Given the description of an element on the screen output the (x, y) to click on. 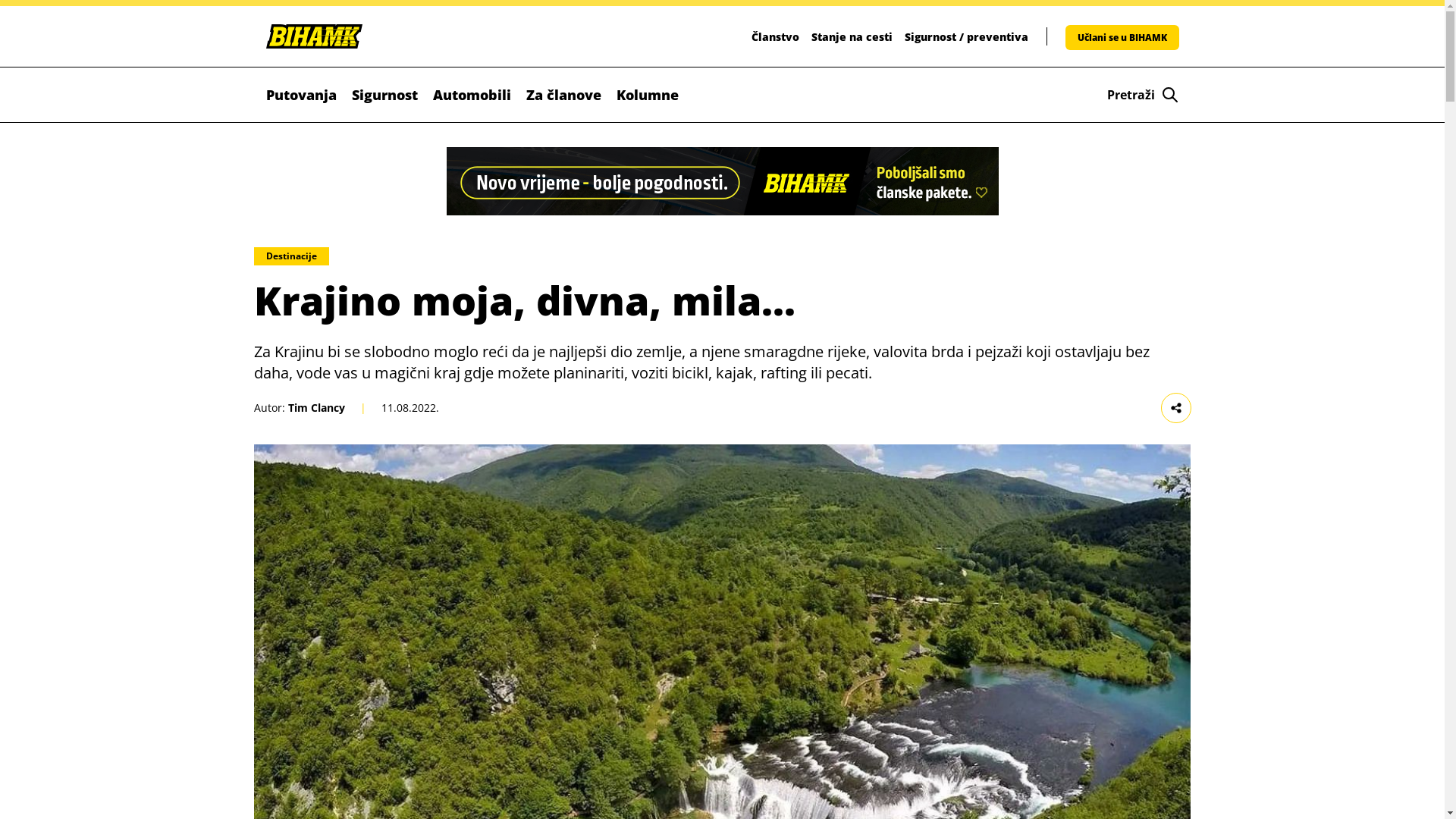
Kolumne Element type: text (646, 94)
Sigurnost Element type: text (384, 94)
Putovanja Element type: text (300, 94)
Sigurnost / preventiva Element type: text (965, 36)
Destinacije Element type: text (290, 256)
Stanje na cesti Element type: text (851, 36)
Automobili Element type: text (471, 94)
